Given the description of an element on the screen output the (x, y) to click on. 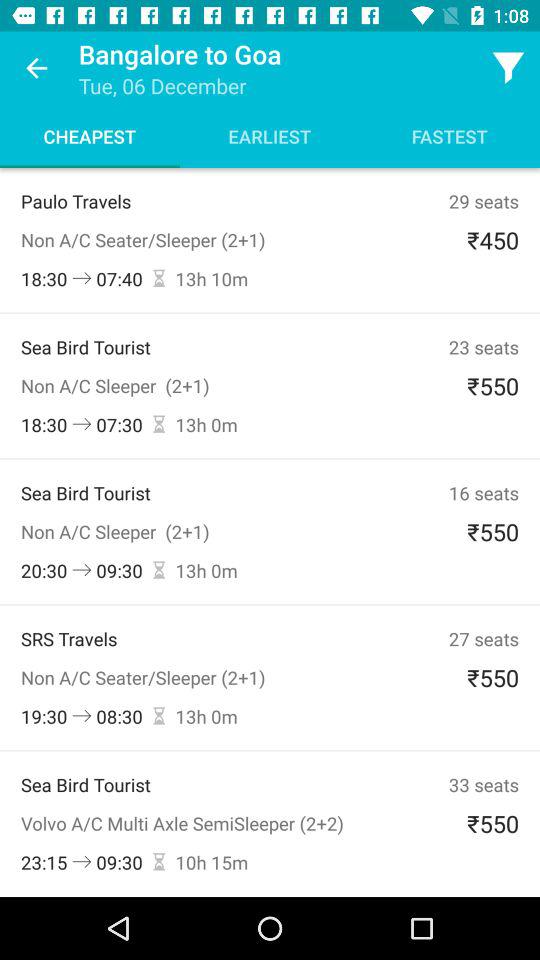
turn on the icon above fastest icon (508, 67)
